Given the description of an element on the screen output the (x, y) to click on. 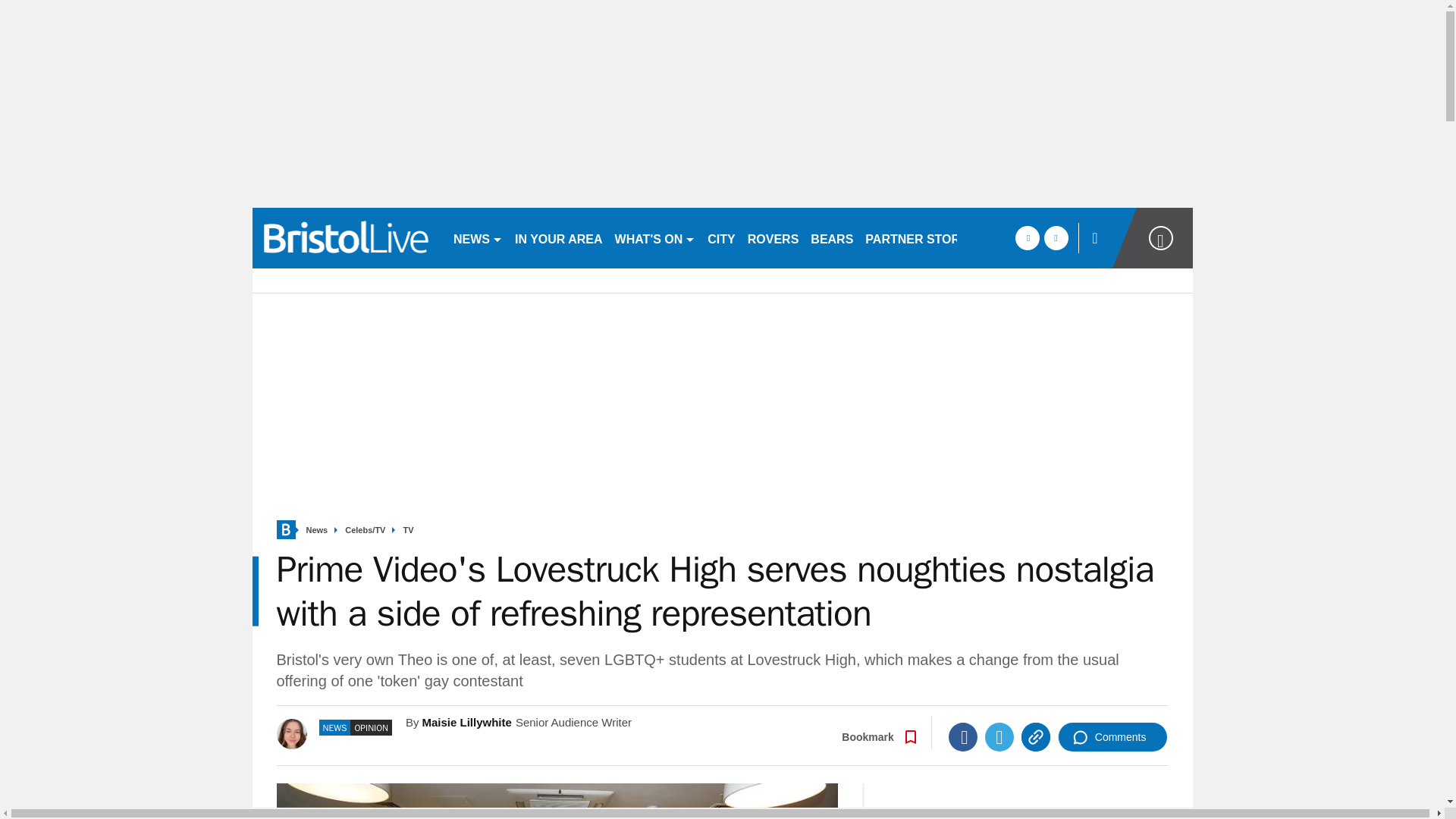
facebook (1026, 238)
Comments (1112, 736)
bristolpost (345, 238)
Facebook (962, 736)
PARTNER STORIES (922, 238)
NEWS (477, 238)
ROVERS (773, 238)
IN YOUR AREA (558, 238)
WHAT'S ON (654, 238)
BEARS (832, 238)
Twitter (999, 736)
twitter (1055, 238)
